Given the description of an element on the screen output the (x, y) to click on. 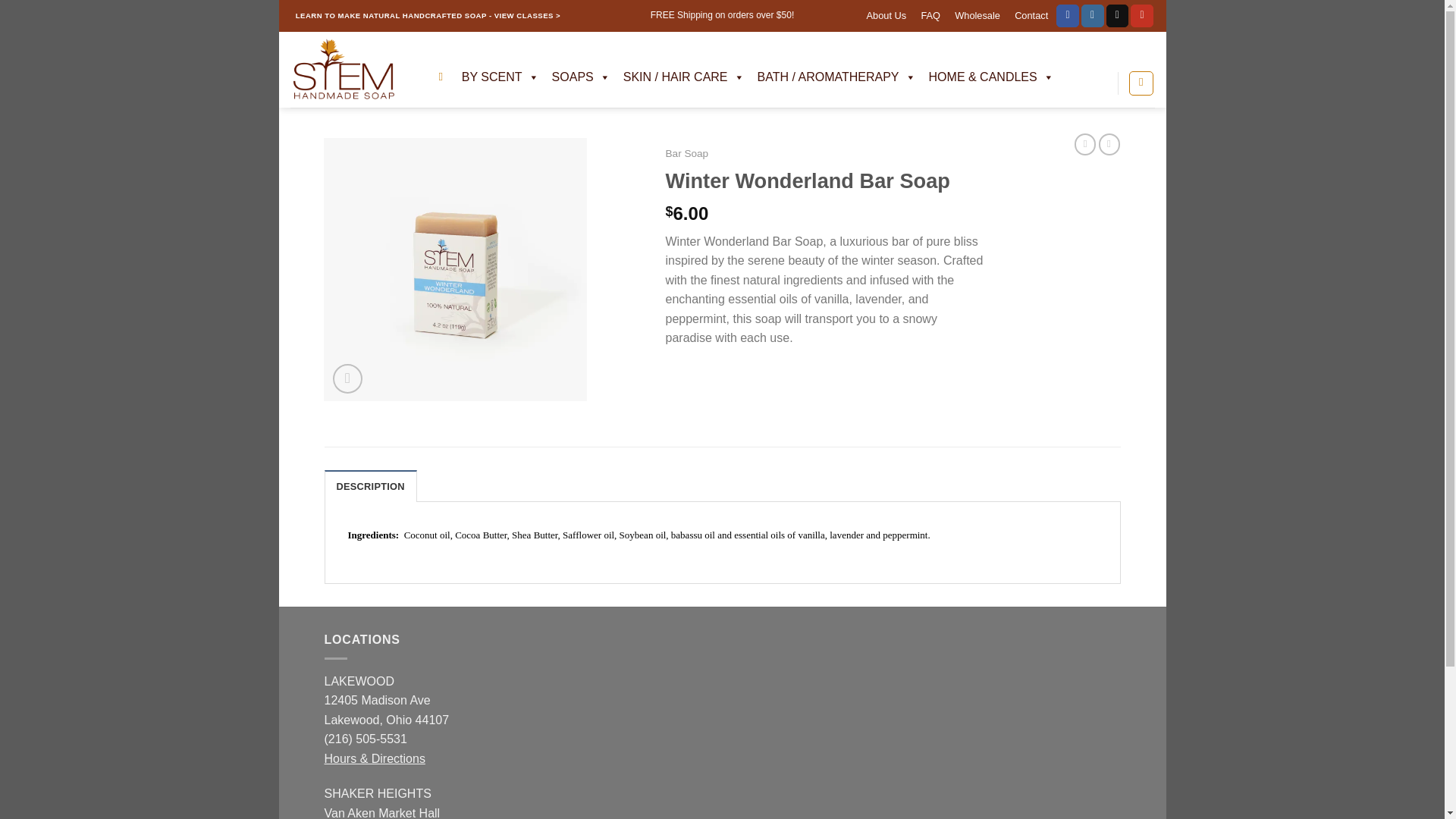
About Us (886, 15)
Wholesale (977, 15)
Follow on Facebook (1067, 15)
Zoom (347, 378)
Contact (1031, 15)
FAQ (930, 15)
Follow on Instagram (1092, 15)
STEM Soaps (351, 69)
SOAPS (579, 77)
BY SCENT (499, 77)
